Given the description of an element on the screen output the (x, y) to click on. 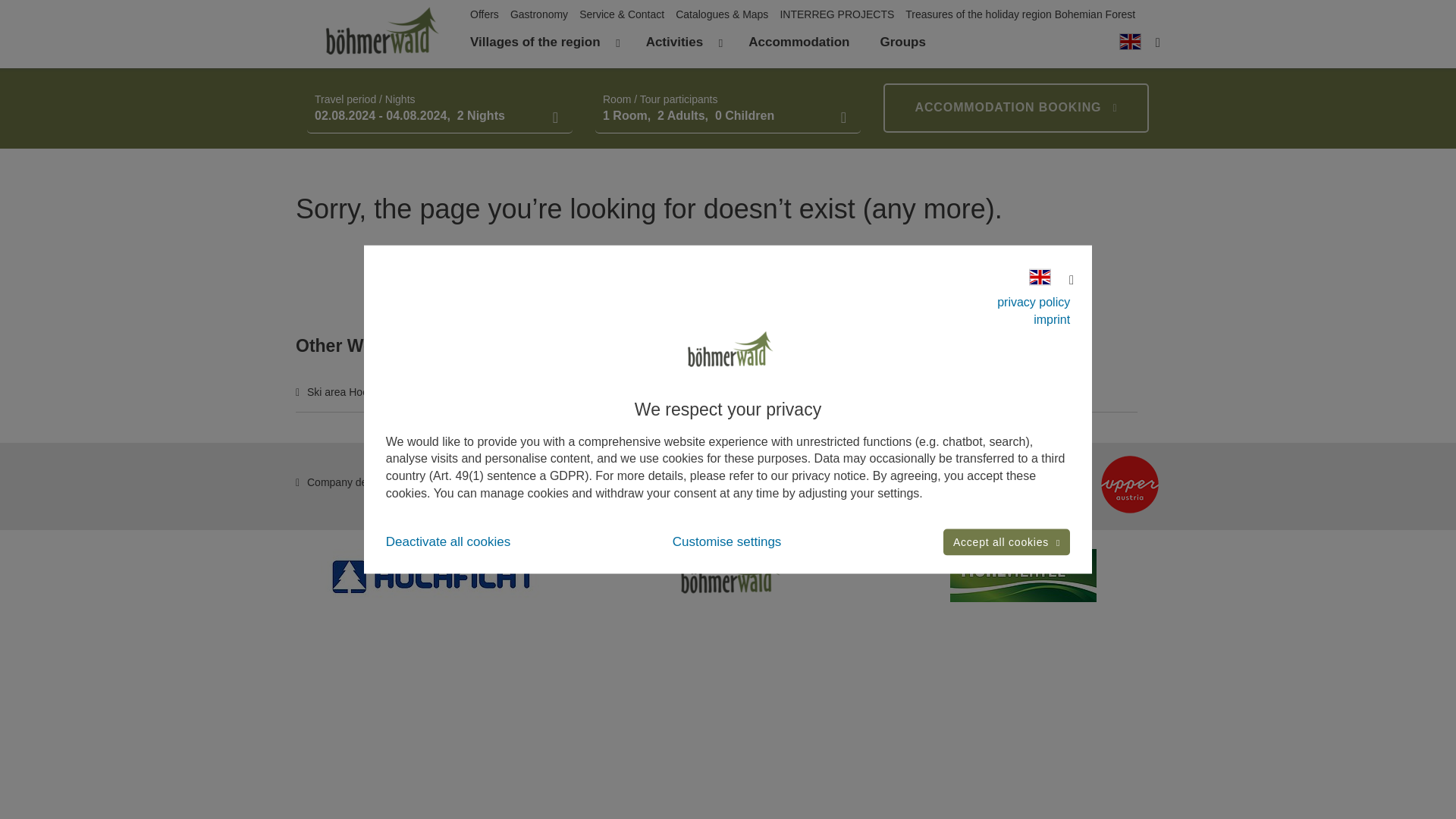
Villages of the region (534, 42)
Activities (674, 42)
